Given the description of an element on the screen output the (x, y) to click on. 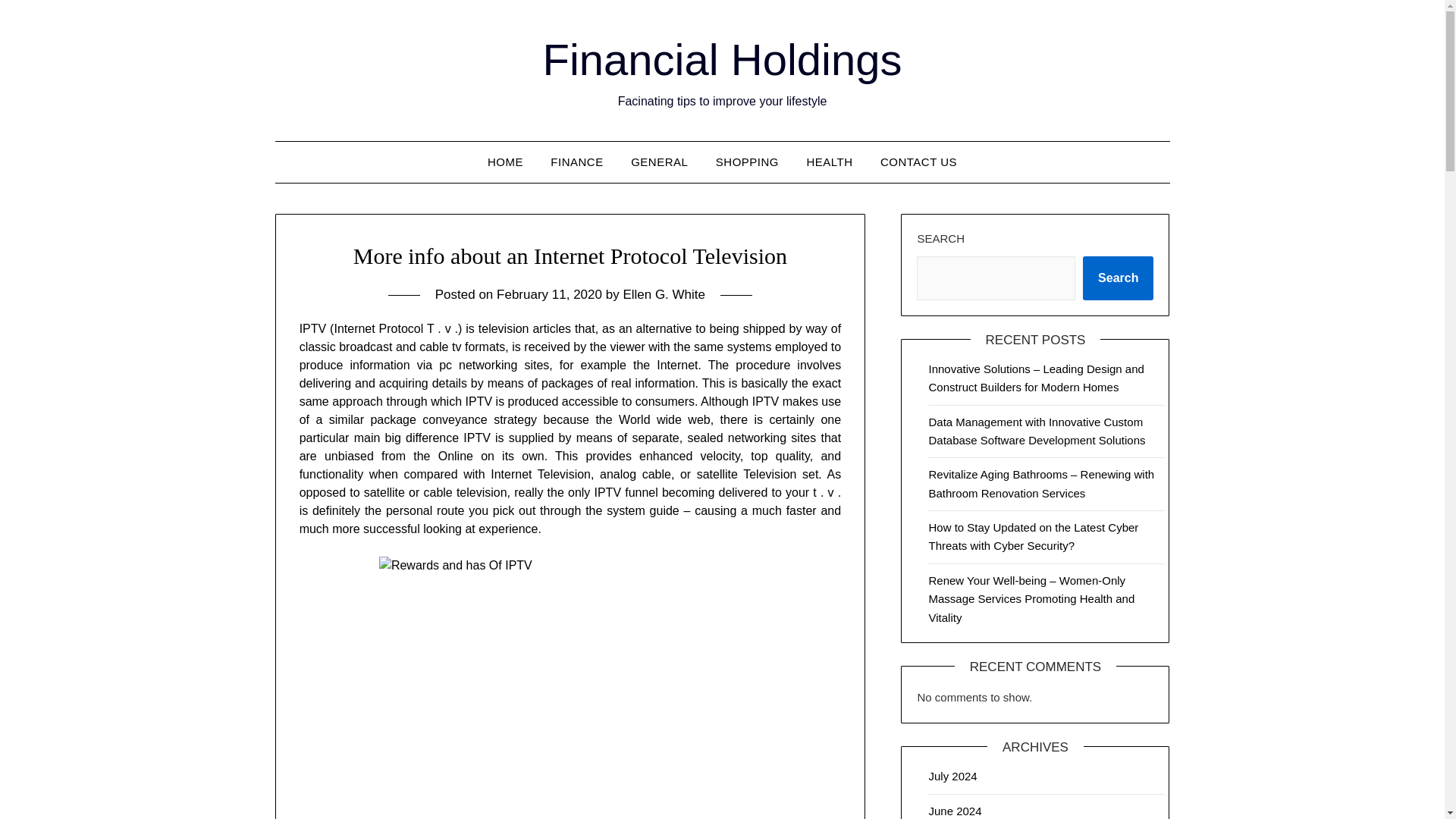
Financial Holdings (722, 59)
February 11, 2020 (549, 294)
July 2024 (952, 775)
CONTACT US (918, 161)
Search (1118, 278)
SHOPPING (746, 161)
HEALTH (828, 161)
June 2024 (954, 810)
Ellen G. White (663, 294)
HOME (505, 161)
FINANCE (576, 161)
GENERAL (659, 161)
